Given the description of an element on the screen output the (x, y) to click on. 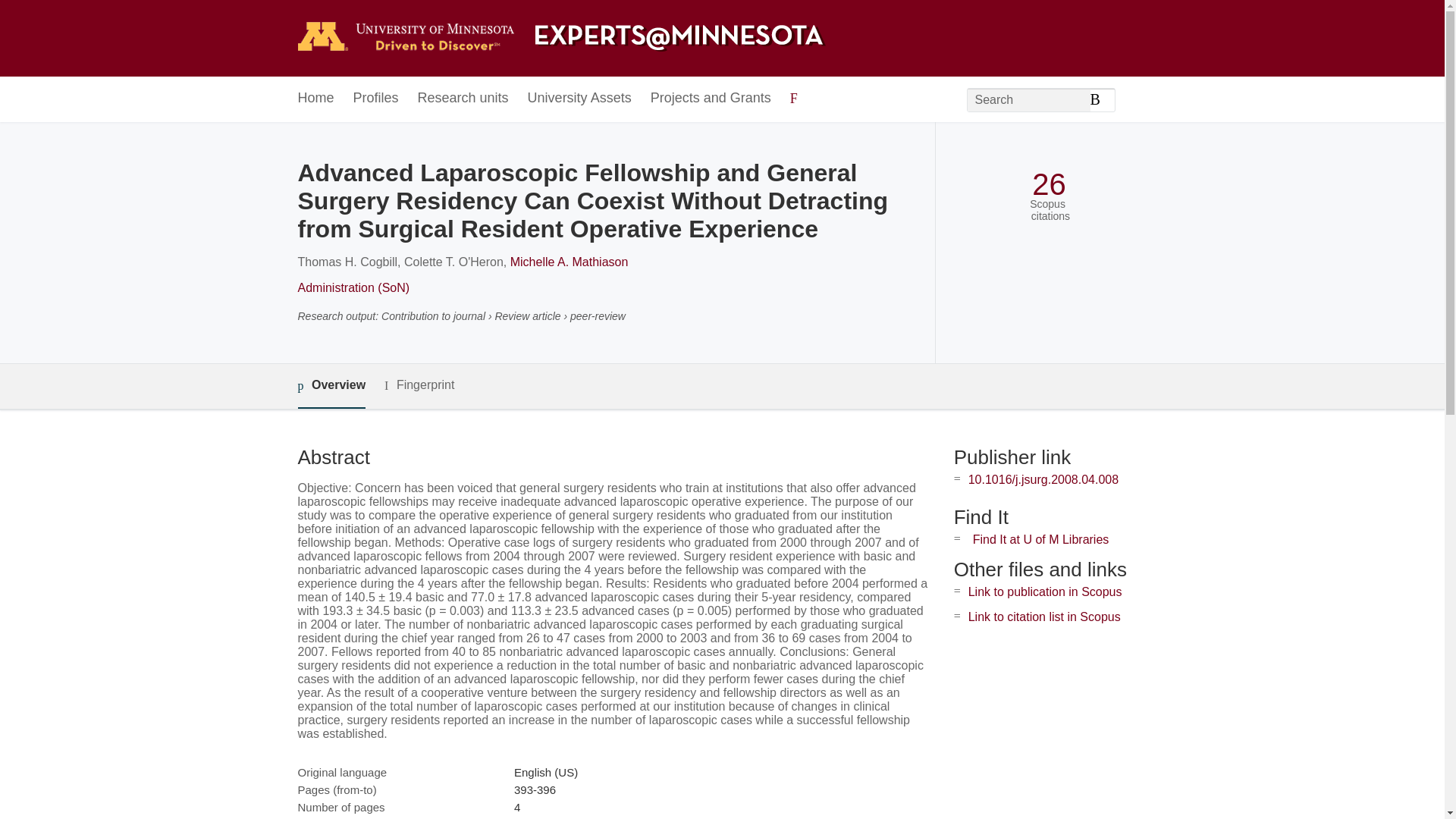
Overview (331, 385)
Projects and Grants (710, 98)
Link to citation list in Scopus (1044, 616)
University Assets (579, 98)
Research units (462, 98)
Fingerprint (419, 385)
Profiles (375, 98)
26 (1048, 184)
Find It at U of M Libraries (1040, 539)
